Given the description of an element on the screen output the (x, y) to click on. 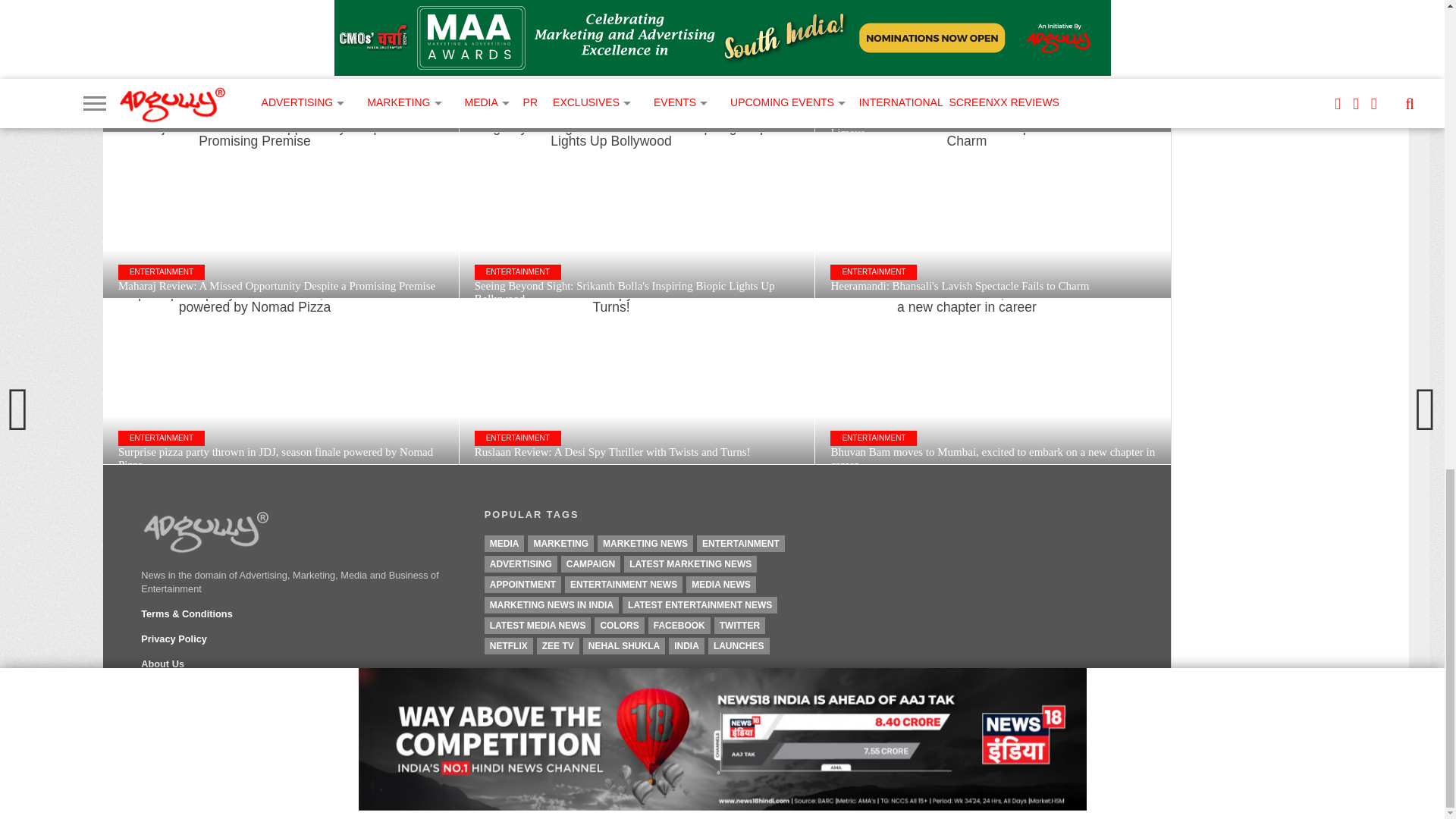
Marketing News (644, 543)
Entertainment News (623, 584)
Campaign (590, 564)
Appointment (522, 584)
Marketing (560, 543)
Media (504, 543)
Advertising (520, 564)
Latest Marketing News (690, 564)
Entertainment (740, 543)
